Given the description of an element on the screen output the (x, y) to click on. 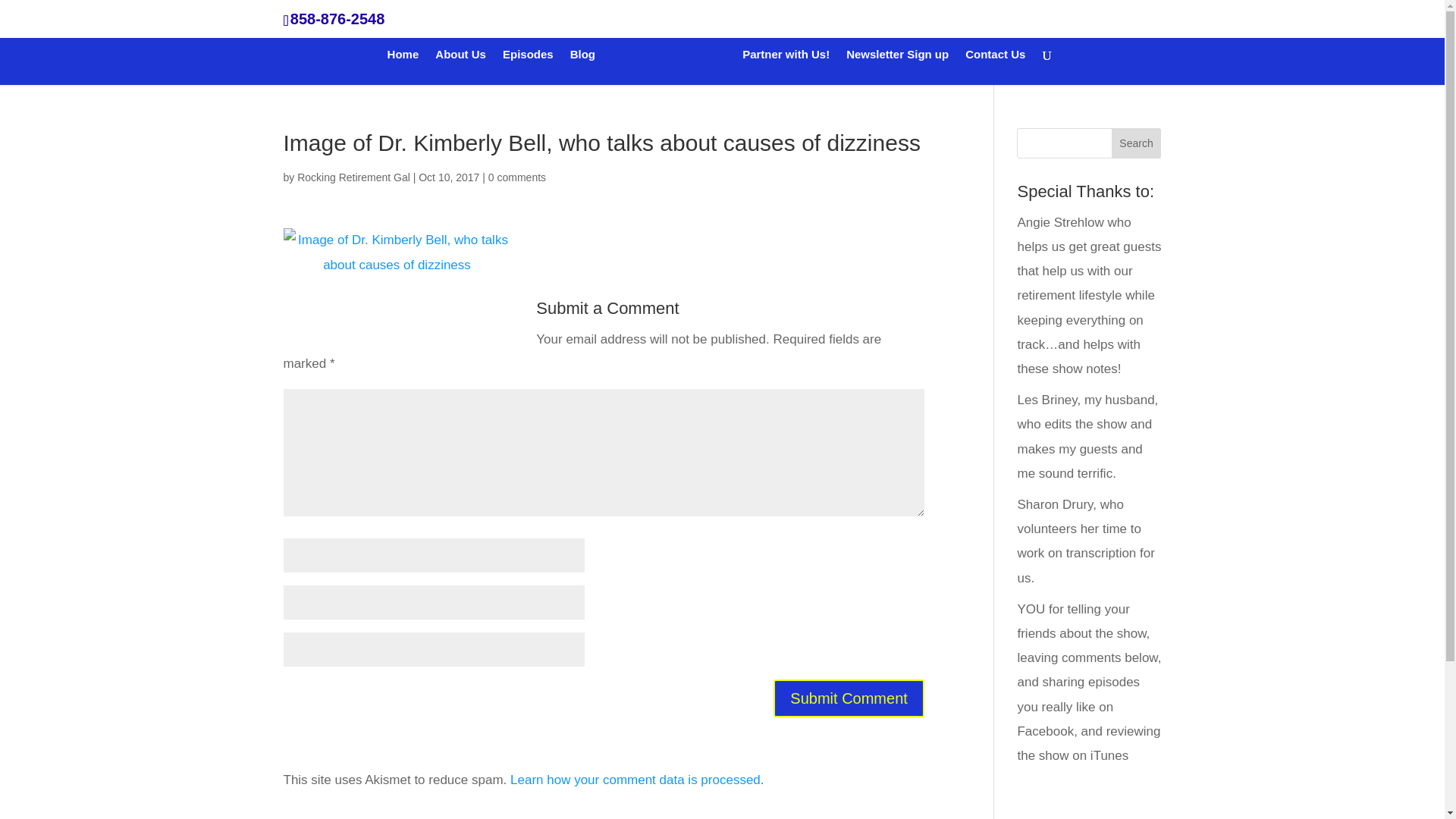
Posts by Rocking Retirement Gal (353, 177)
Newsletter Sign up (897, 67)
About Us (460, 67)
0 comments (516, 177)
Episodes (527, 67)
Submit Comment (848, 698)
Rocking Retirement Gal (353, 177)
reviewing the show on iTunes (1088, 742)
Search (1136, 142)
Partner with Us! (785, 67)
Contact Us (995, 67)
Submit Comment (848, 698)
Home (403, 67)
Learn how your comment data is processed (635, 780)
Search (1136, 142)
